Given the description of an element on the screen output the (x, y) to click on. 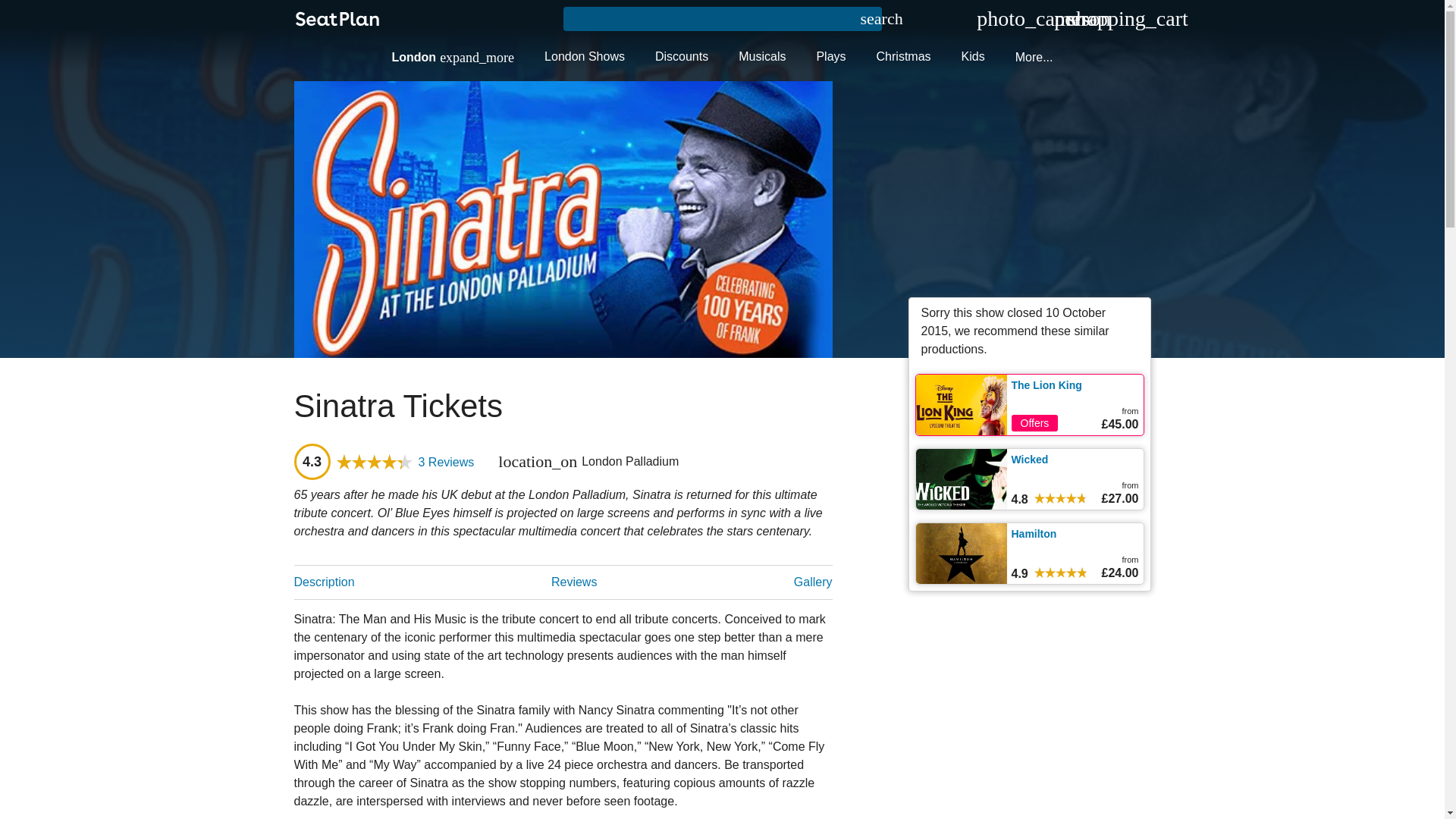
Musicals (761, 56)
More... (1034, 56)
Discounts (681, 56)
Plays (830, 56)
Kids (973, 56)
London Shows (584, 56)
Christmas (903, 56)
London (452, 56)
